Given the description of an element on the screen output the (x, y) to click on. 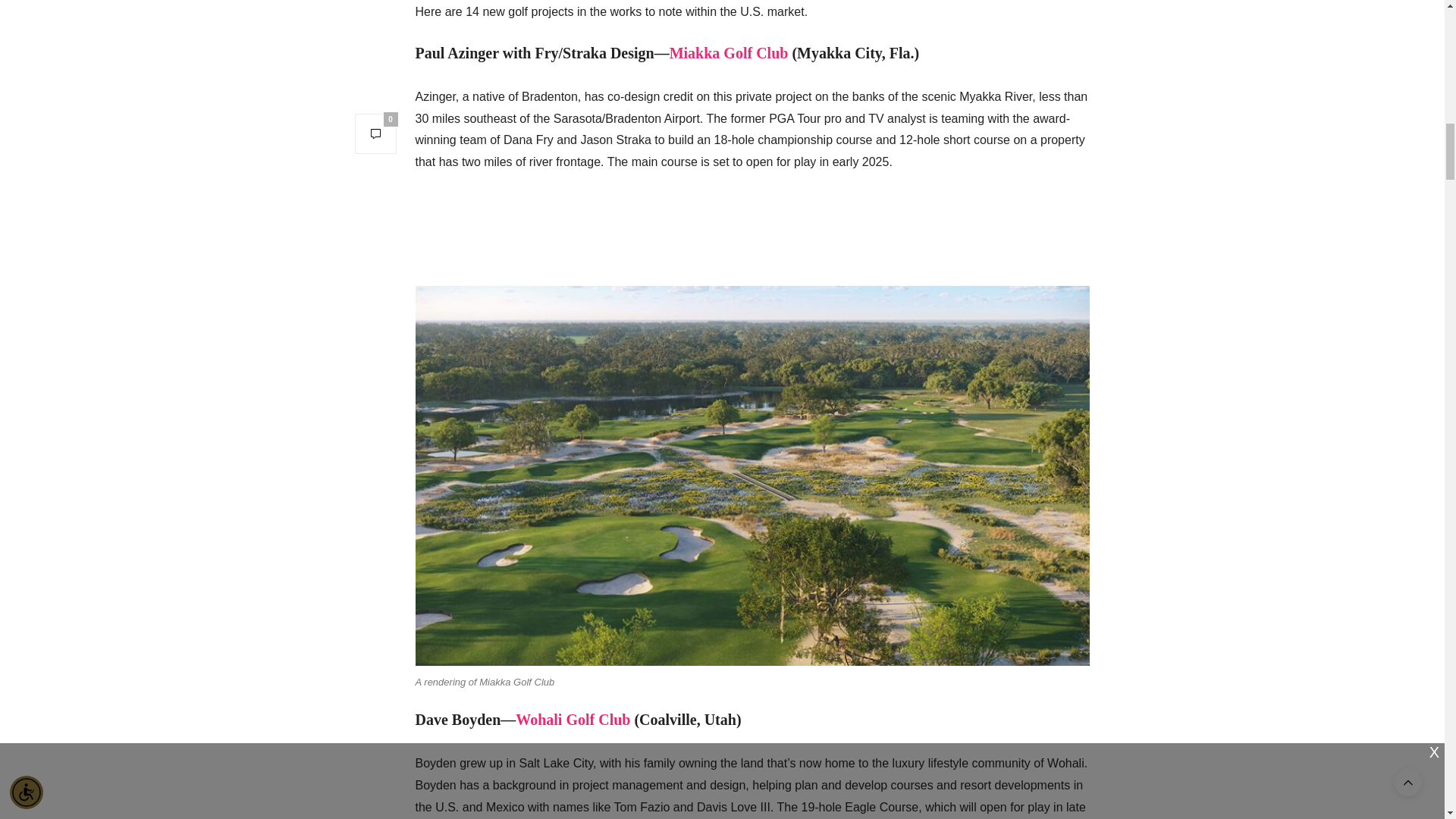
3rd party ad content (751, 226)
